Given the description of an element on the screen output the (x, y) to click on. 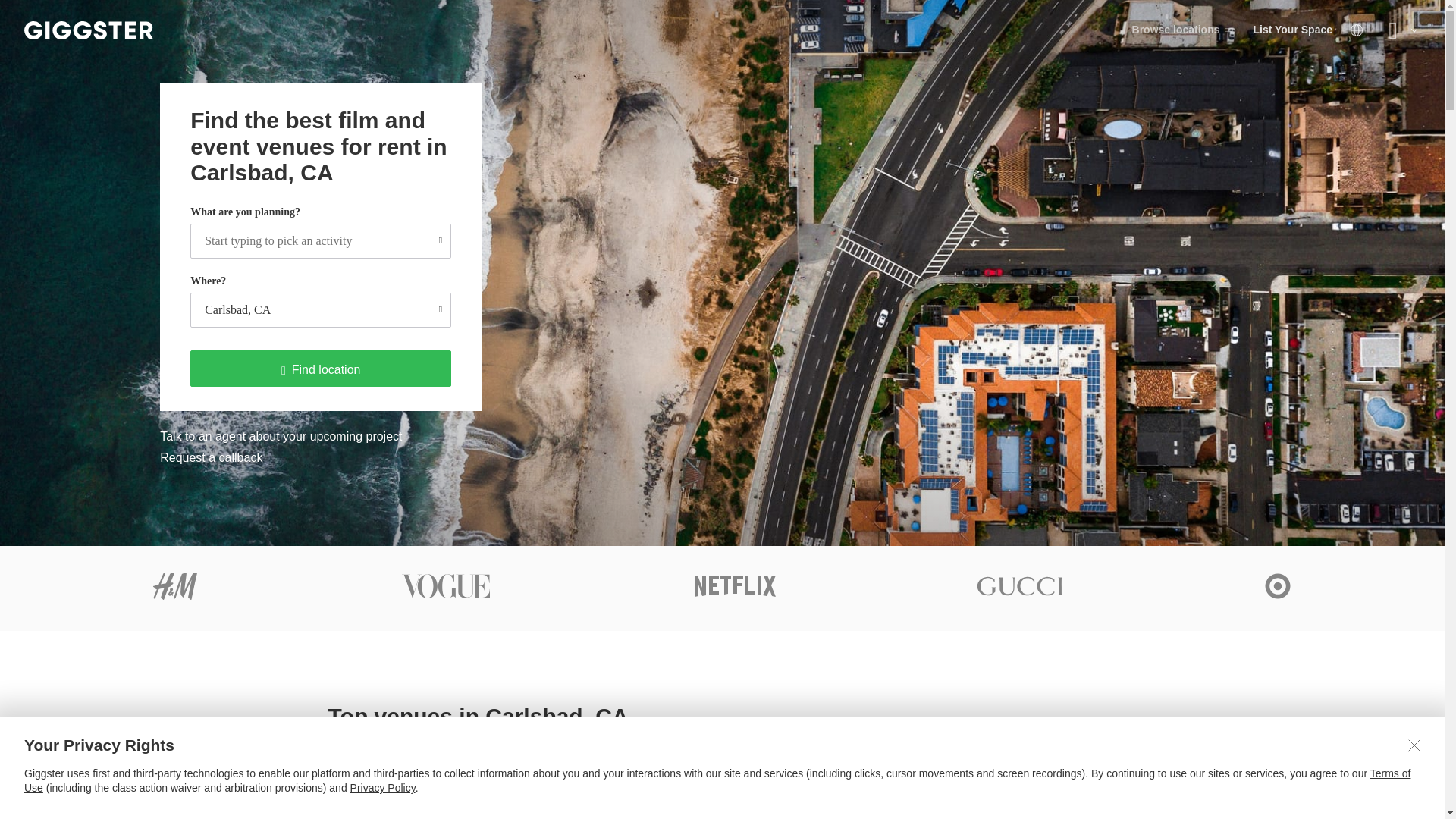
Carlsbad, CA (721, 768)
on (721, 768)
Browse locations (320, 309)
Intercom live chat (721, 768)
